Given the description of an element on the screen output the (x, y) to click on. 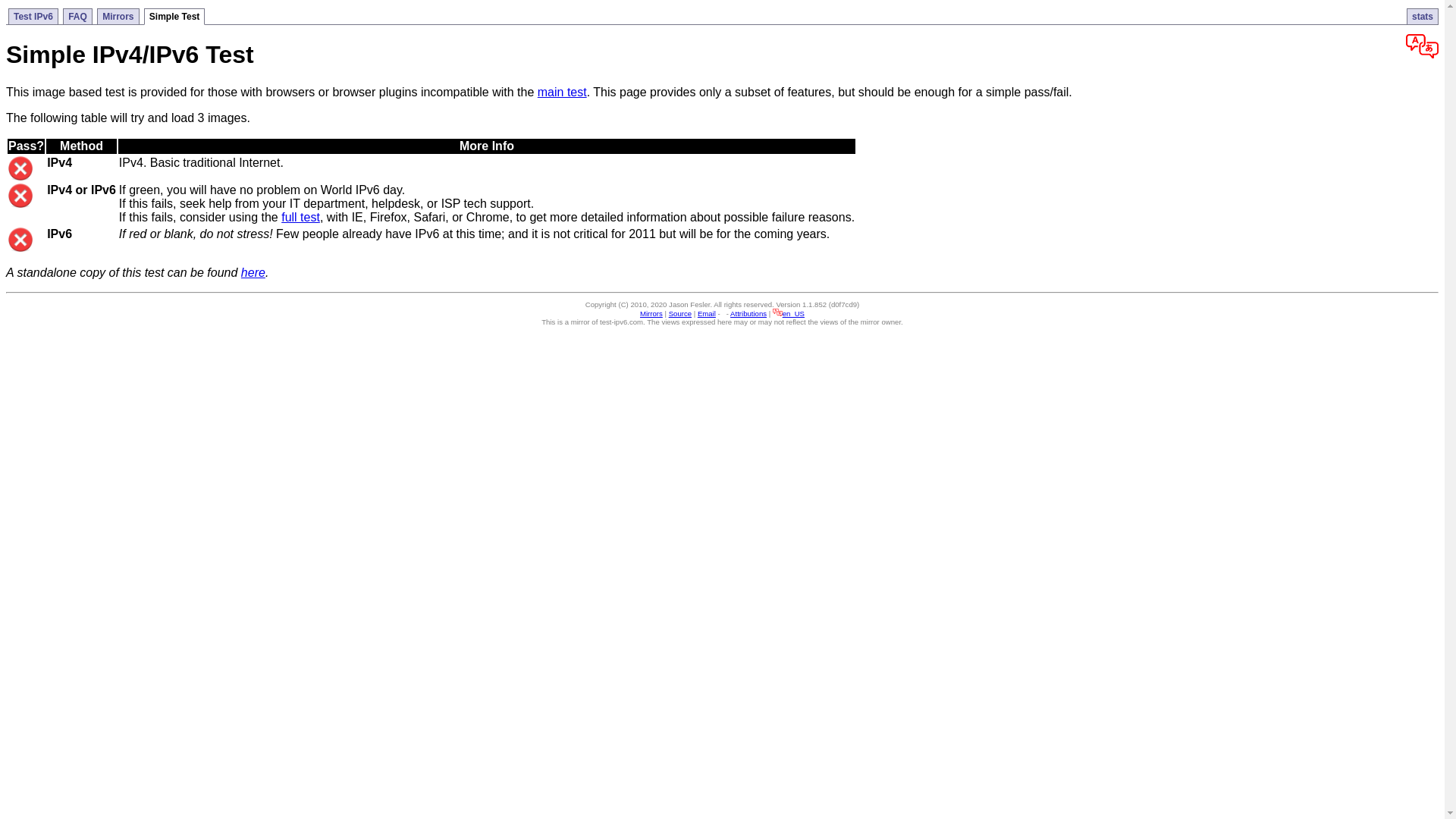
Mirrors Element type: text (651, 313)
Simple Test Element type: text (174, 16)
full test Element type: text (300, 216)
en_US Element type: text (788, 313)
Source Element type: text (679, 313)
Mirrors Element type: text (117, 16)
here Element type: text (253, 272)
main test Element type: text (561, 91)
Attributions Element type: text (748, 313)
FAQ Element type: text (77, 16)
Test IPv6 Element type: text (33, 16)
stats Element type: text (1422, 16)
Email Element type: text (706, 313)
